Given the description of an element on the screen output the (x, y) to click on. 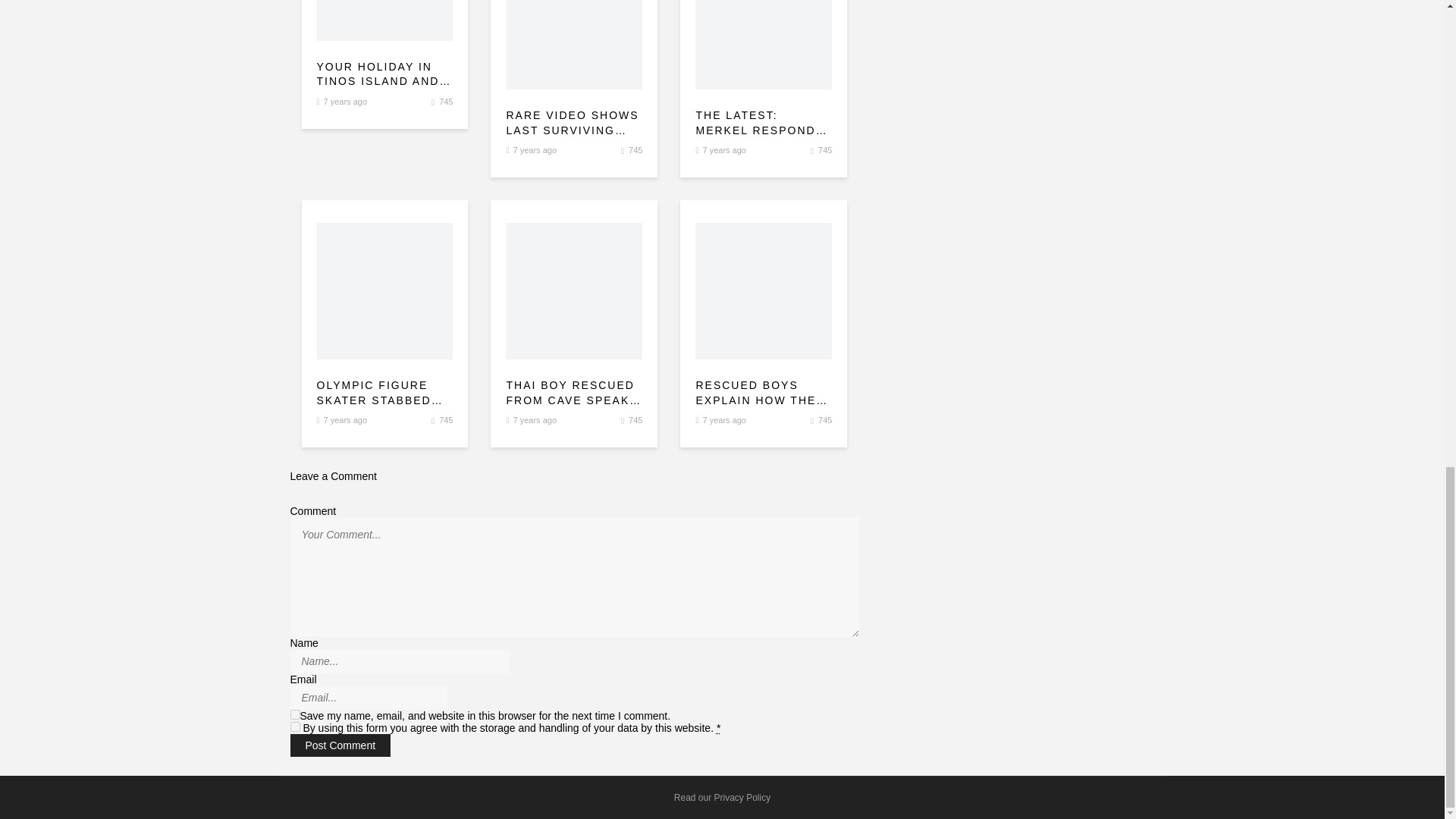
The Latest: Merkel responds to Trump jab on Montenegro (763, 123)
Rare video shows last surviving member of Amazonian tribe (573, 123)
745 (635, 149)
Kim Jong-un makes visit to cosmetics firm with wife (384, 20)
Kim Jong-un makes visit to cosmetics firm with wife (763, 44)
RARE VIDEO SHOWS LAST SURVIVING MEMBER OF AMAZONIAN TRIBE (573, 123)
yes (294, 714)
Kim Jong-un makes visit to cosmetics firm with wife (445, 101)
Your holiday in Tinos island and where to stay! (384, 74)
1 (294, 726)
